Given the description of an element on the screen output the (x, y) to click on. 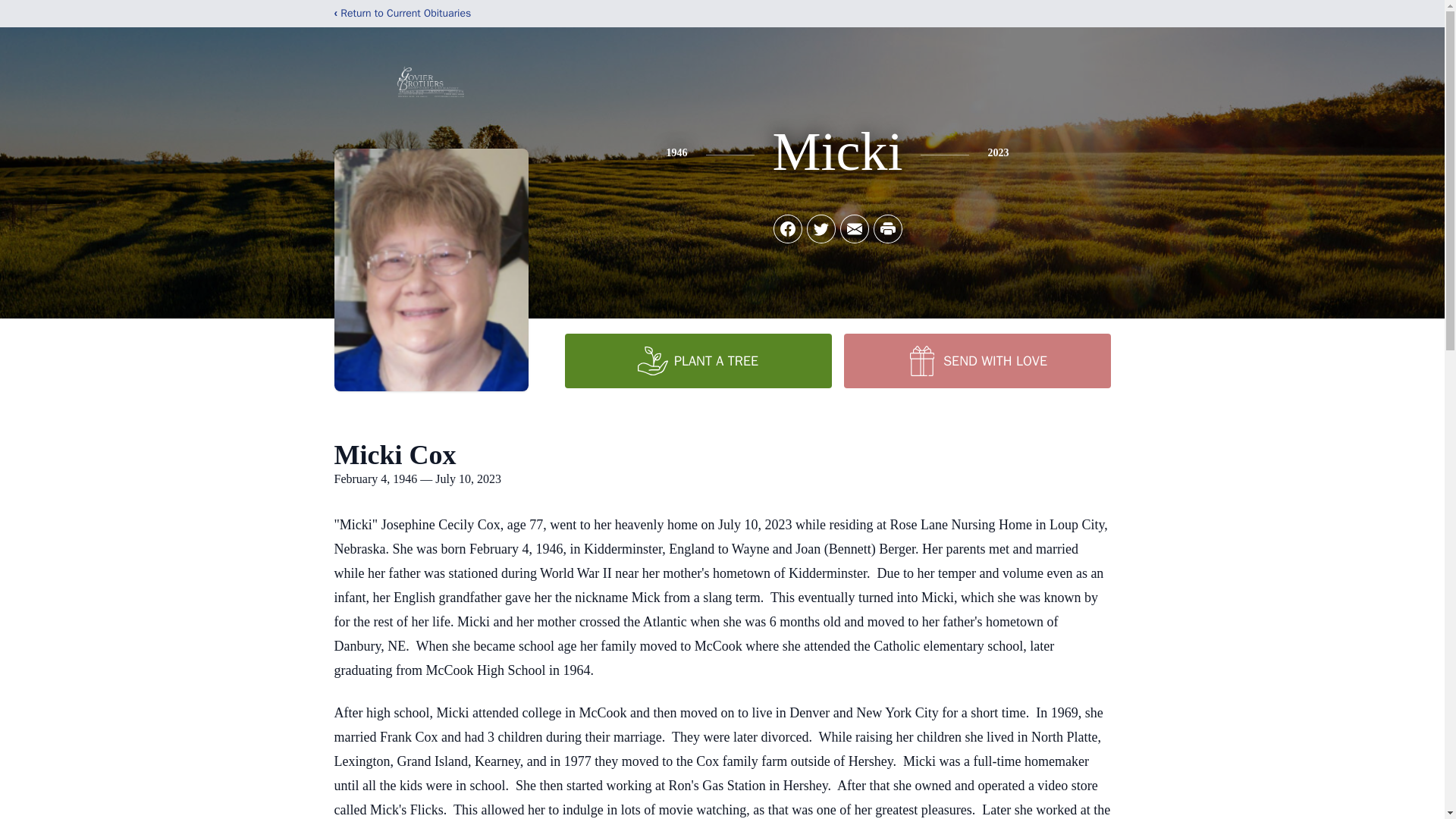
PLANT A TREE (697, 360)
SEND WITH LOVE (976, 360)
